Given the description of an element on the screen output the (x, y) to click on. 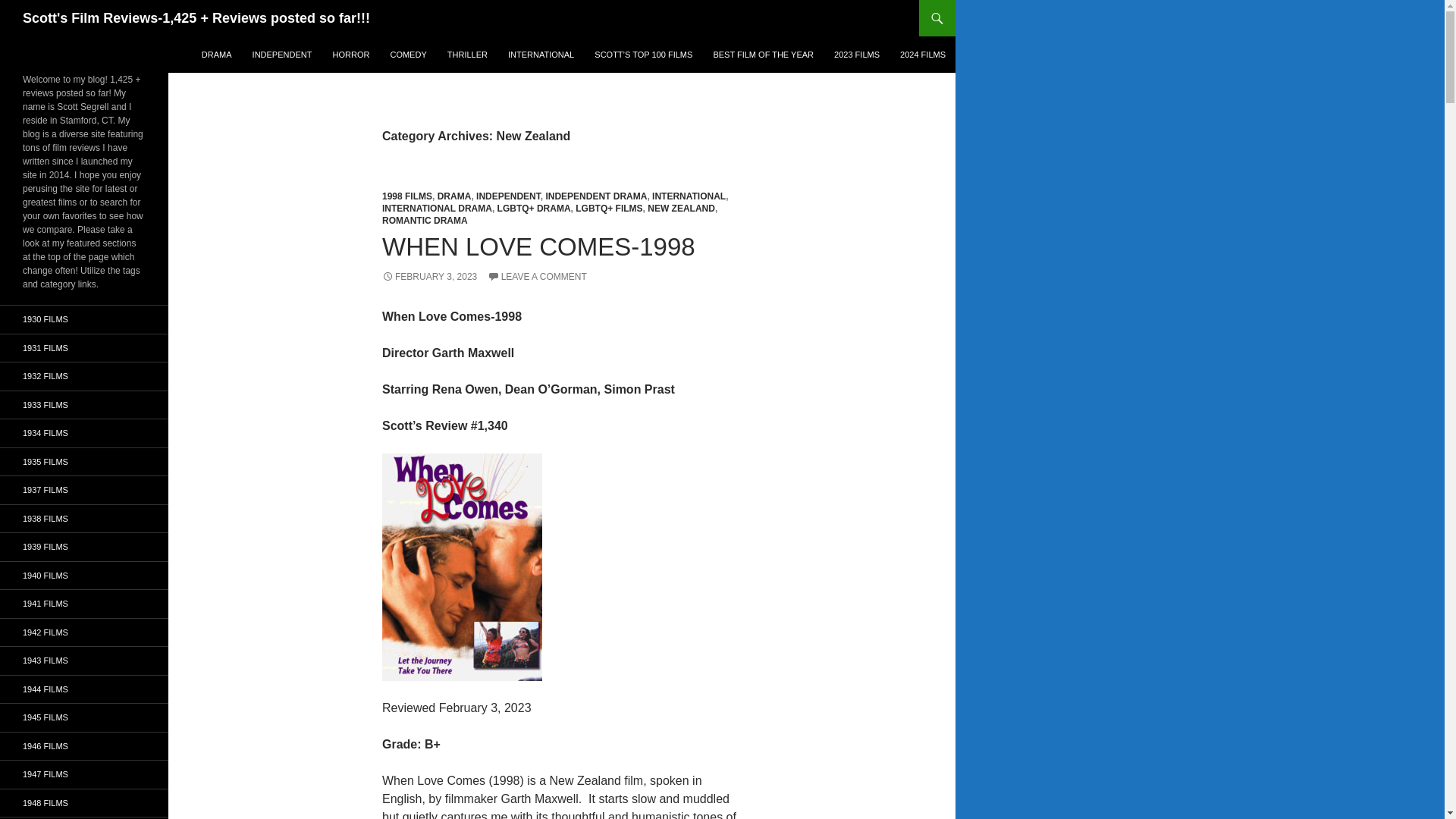
FEBRUARY 3, 2023 (429, 276)
1930 FILMS (84, 319)
1998 FILMS (406, 195)
LEAVE A COMMENT (536, 276)
INTERNATIONAL DRAMA (436, 208)
INTERNATIONAL (541, 54)
BEST FILM OF THE YEAR (762, 54)
COMEDY (407, 54)
2024 FILMS (923, 54)
INDEPENDENT DRAMA (595, 195)
INDEPENDENT (282, 54)
NEW ZEALAND (680, 208)
DRAMA (216, 54)
INDEPENDENT (508, 195)
